Given the description of an element on the screen output the (x, y) to click on. 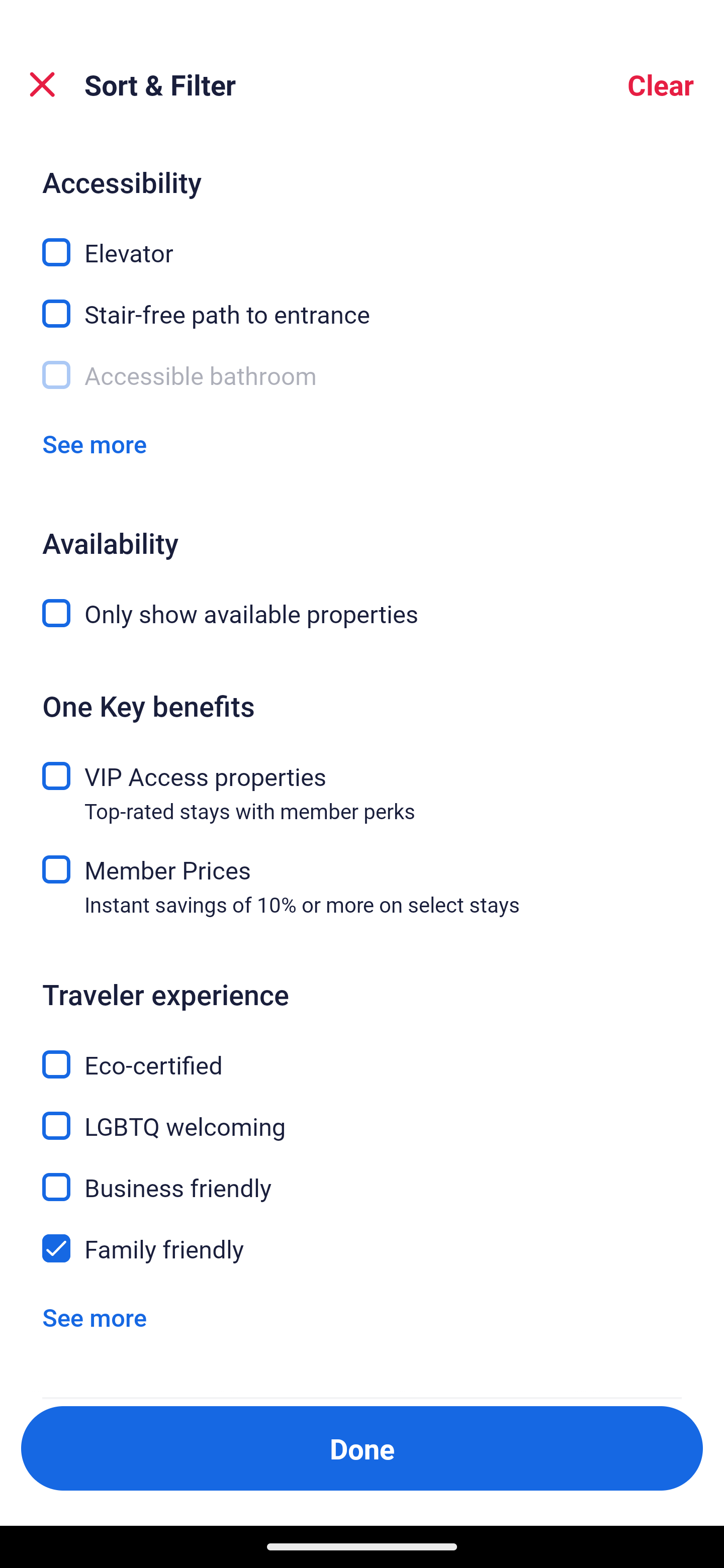
Close Sort and Filter (42, 84)
Clear (660, 84)
Elevator, Elevator (361, 240)
Accessible bathroom, Accessible bathroom (361, 374)
See more See more accessibility options Link (93, 443)
Eco-certified, Eco-certified (361, 1052)
LGBTQ welcoming, LGBTQ welcoming (361, 1113)
Business friendly, Business friendly (361, 1175)
Family friendly, Family friendly (361, 1248)
See more See more traveler experience options Link (93, 1316)
Apply and close Sort and Filter Done (361, 1448)
